Given the description of an element on the screen output the (x, y) to click on. 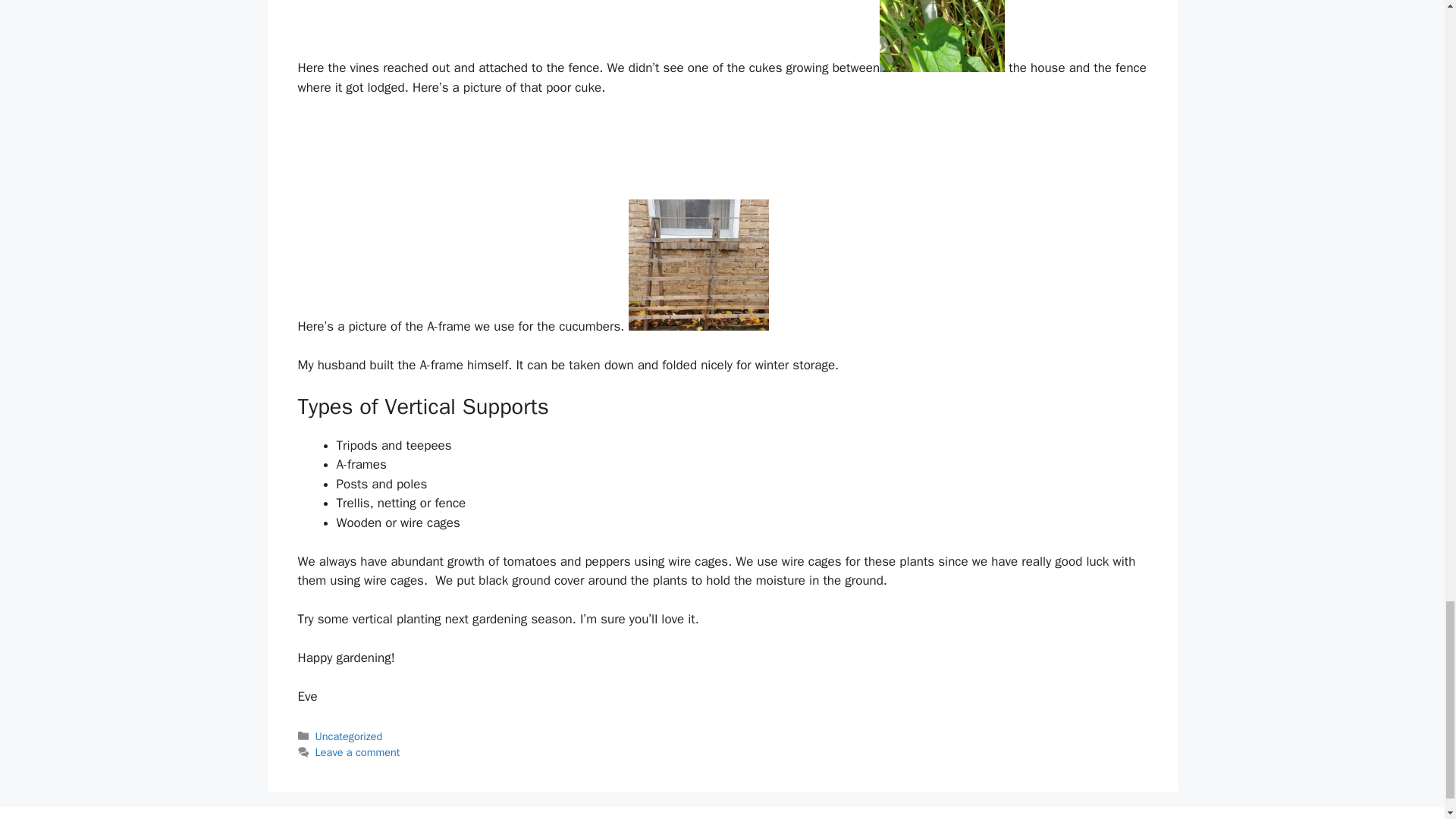
Leave a comment (357, 752)
Uncategorized (348, 735)
